Given the description of an element on the screen output the (x, y) to click on. 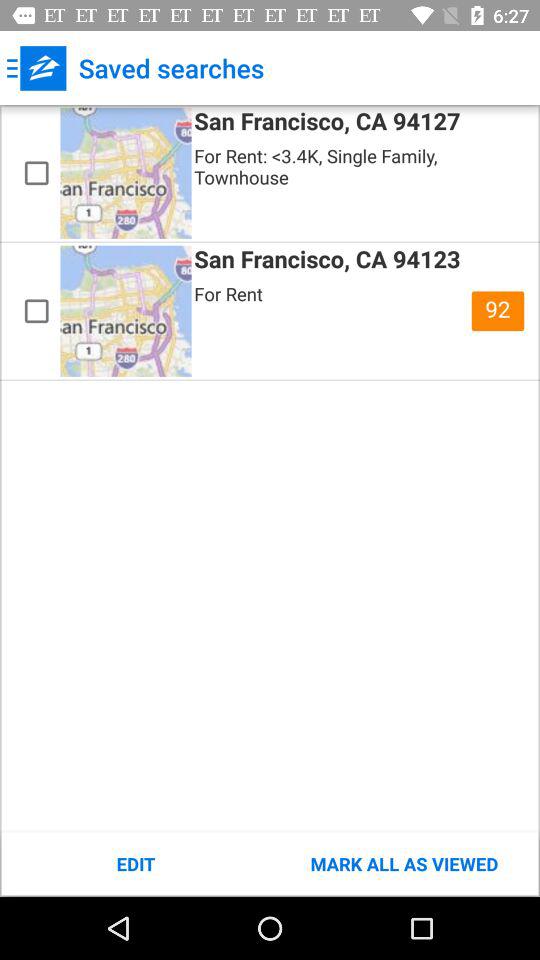
turn on icon to the left of the mark all as (135, 863)
